Given the description of an element on the screen output the (x, y) to click on. 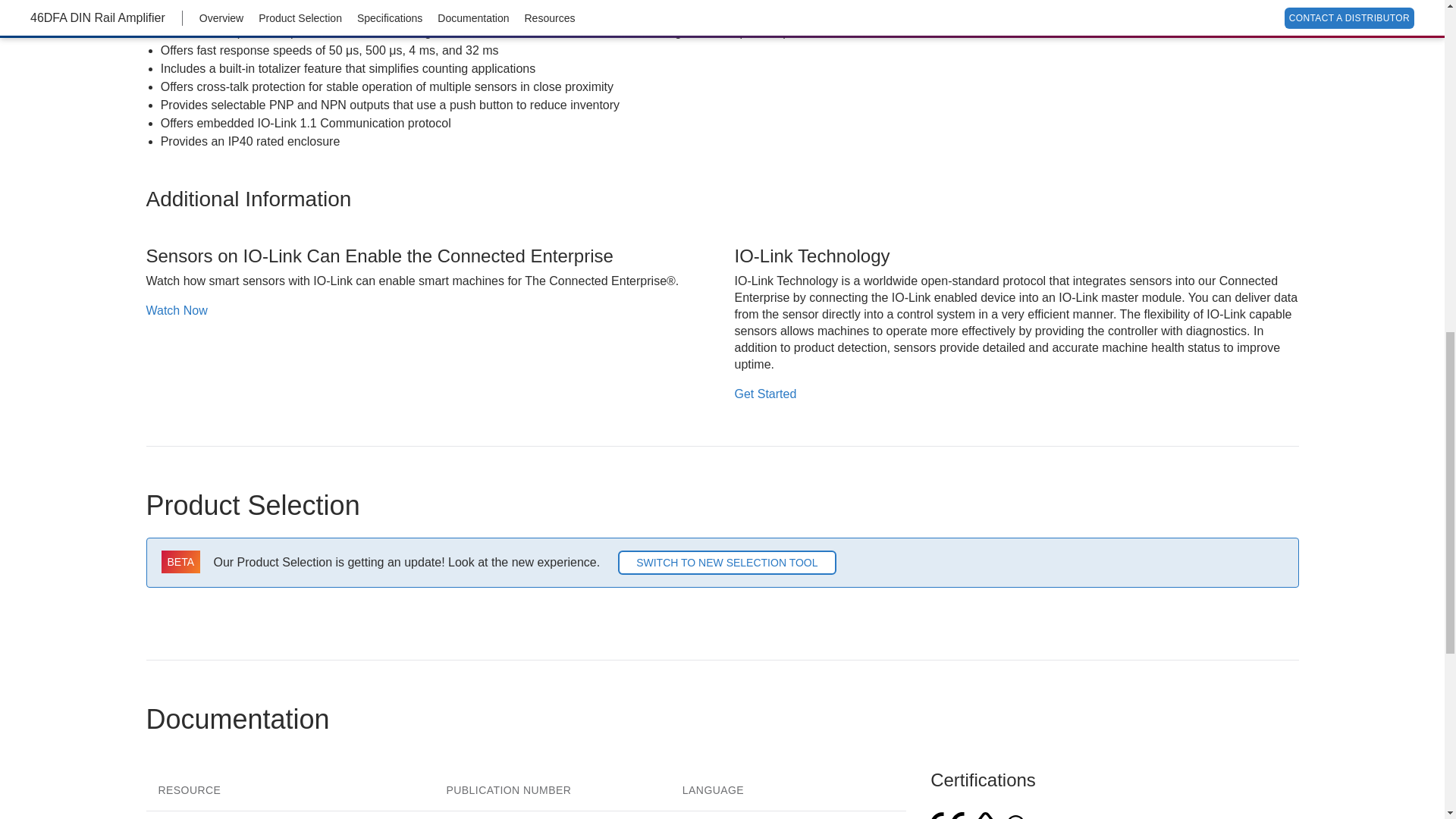
Get Started (1015, 393)
UL Listed CertificationUL Listed Certification (1024, 816)
Watch Now (427, 311)
SWITCH TO NEW SELECTION TOOL (726, 562)
RCM CertificationRCM Certification (985, 815)
